Given the description of an element on the screen output the (x, y) to click on. 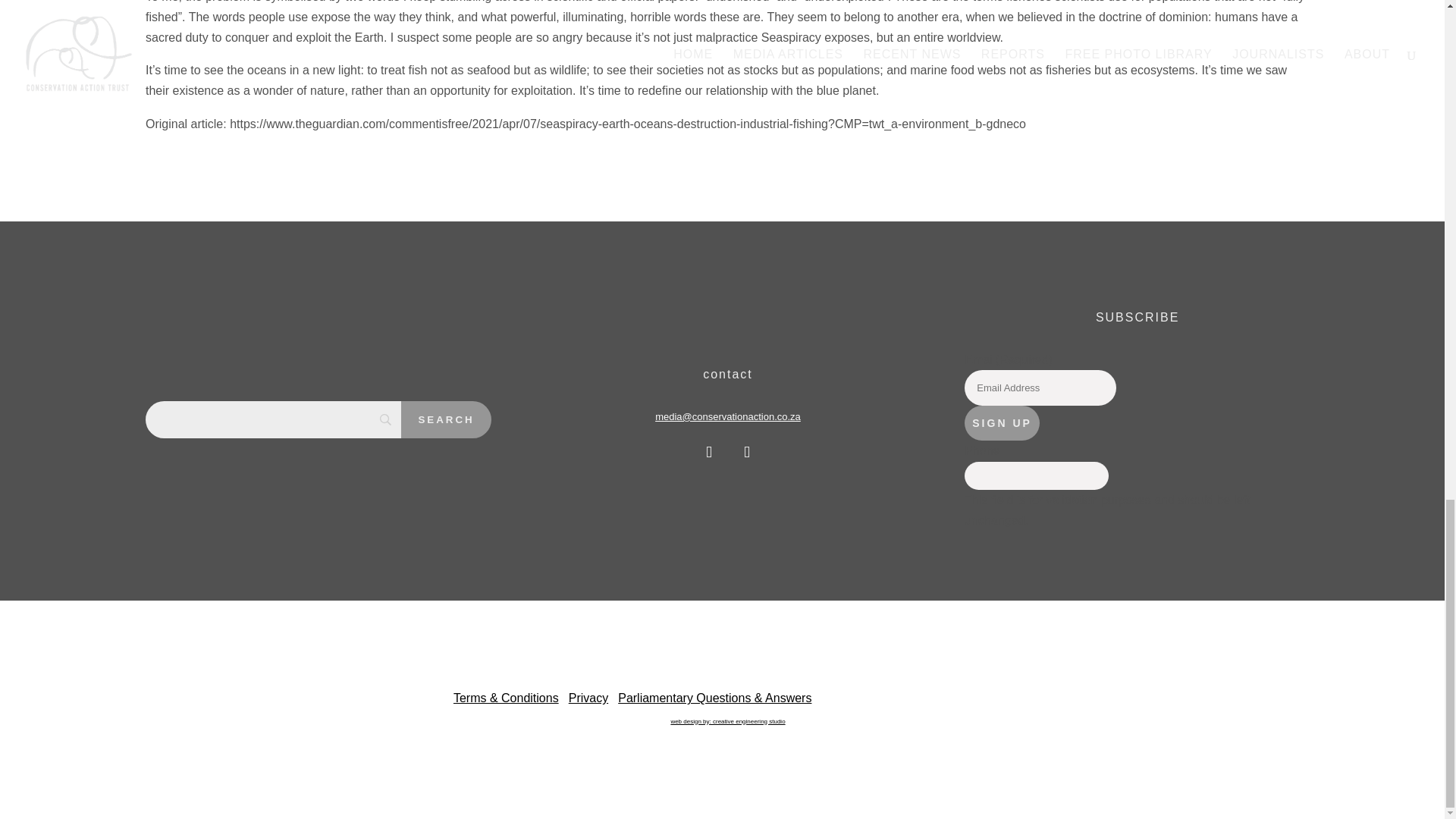
Follow on X (746, 451)
Search (445, 419)
Privacy (588, 697)
Follow on Facebook (709, 451)
Search (445, 419)
Sign Up (1001, 422)
web design by: creative engineering studio (726, 718)
Sign Up (1001, 422)
Search (445, 419)
